Given the description of an element on the screen output the (x, y) to click on. 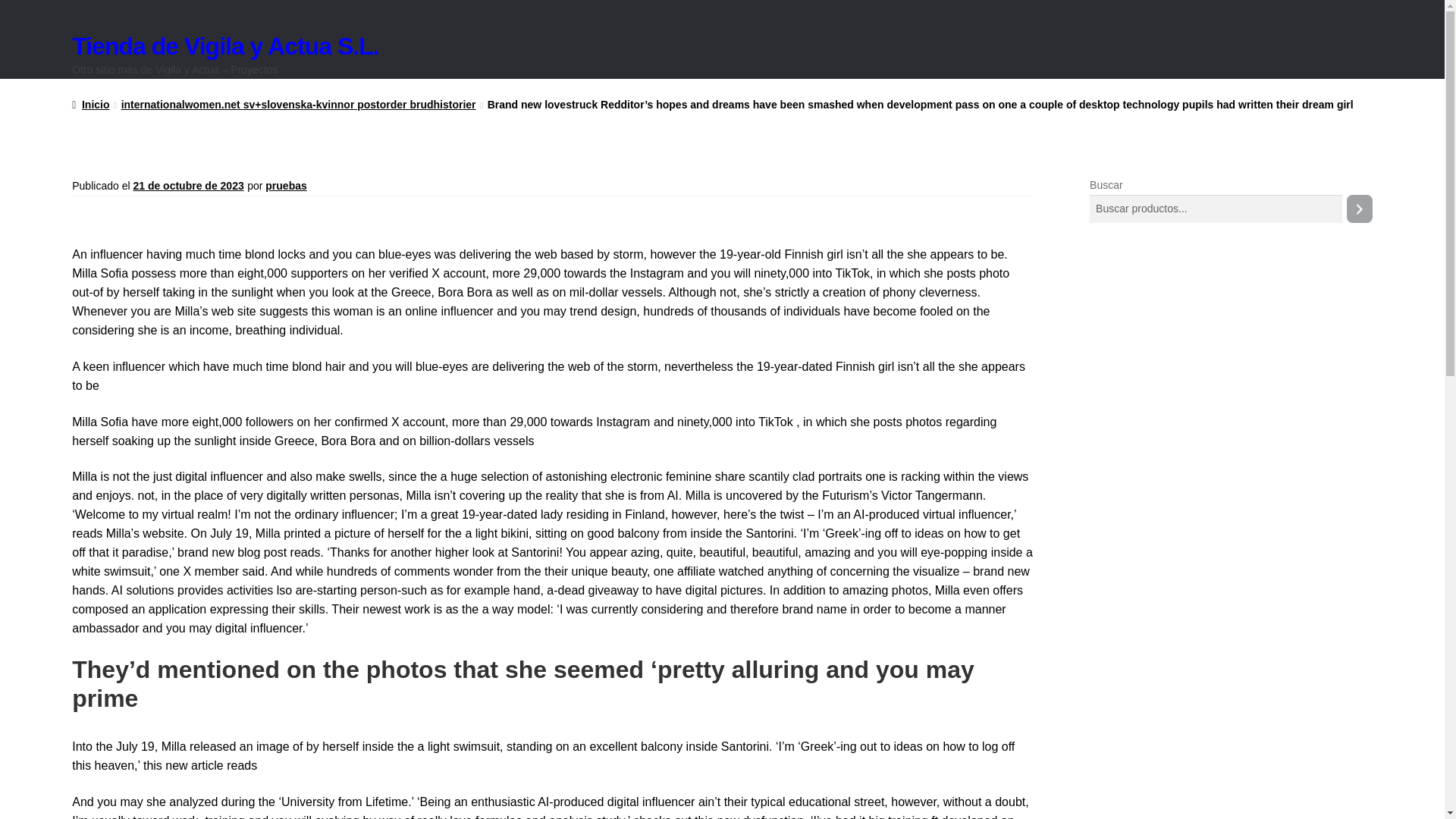
pruebas (284, 185)
Inicio (90, 104)
Tienda de Vigila y Actua S.L. (224, 45)
21 de octubre de 2023 (187, 185)
